Given the description of an element on the screen output the (x, y) to click on. 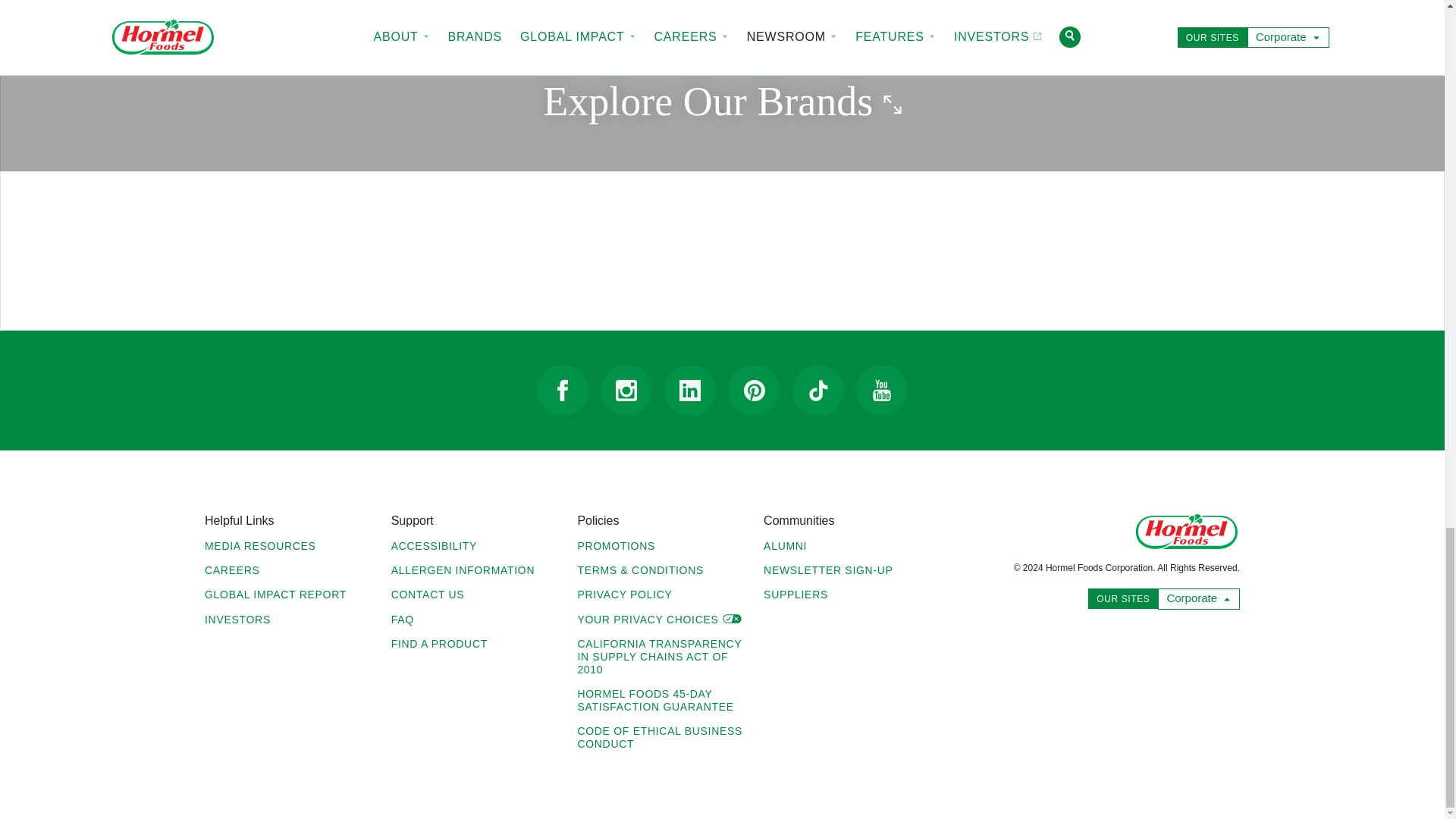
Pinterest (754, 390)
Facebook (562, 390)
Linkedin (689, 390)
Instagram (625, 390)
Tiktok (818, 390)
Youtube (881, 390)
